Given the description of an element on the screen output the (x, y) to click on. 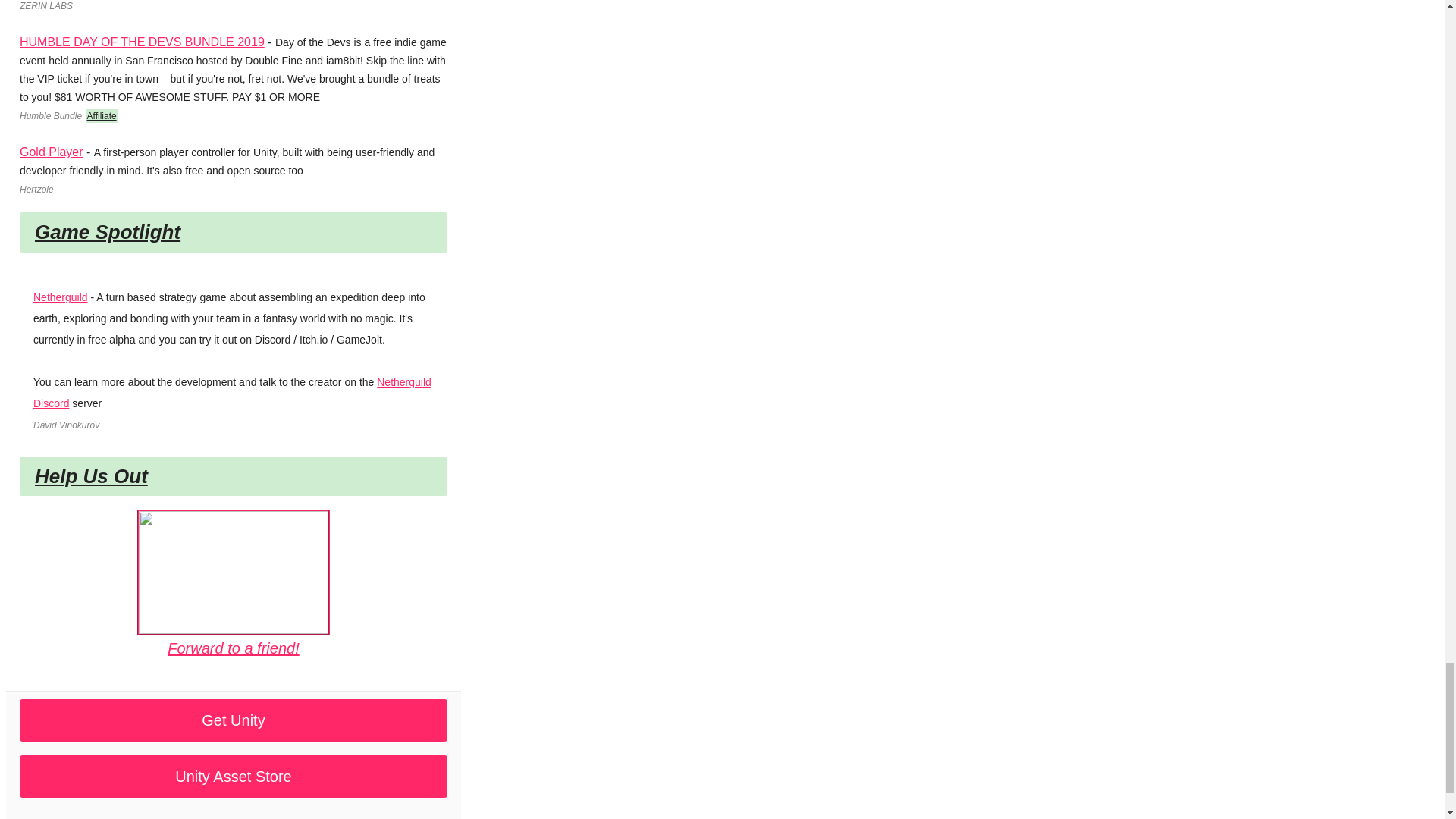
Unity Asset Store (233, 776)
Get Unity (233, 720)
